Given the description of an element on the screen output the (x, y) to click on. 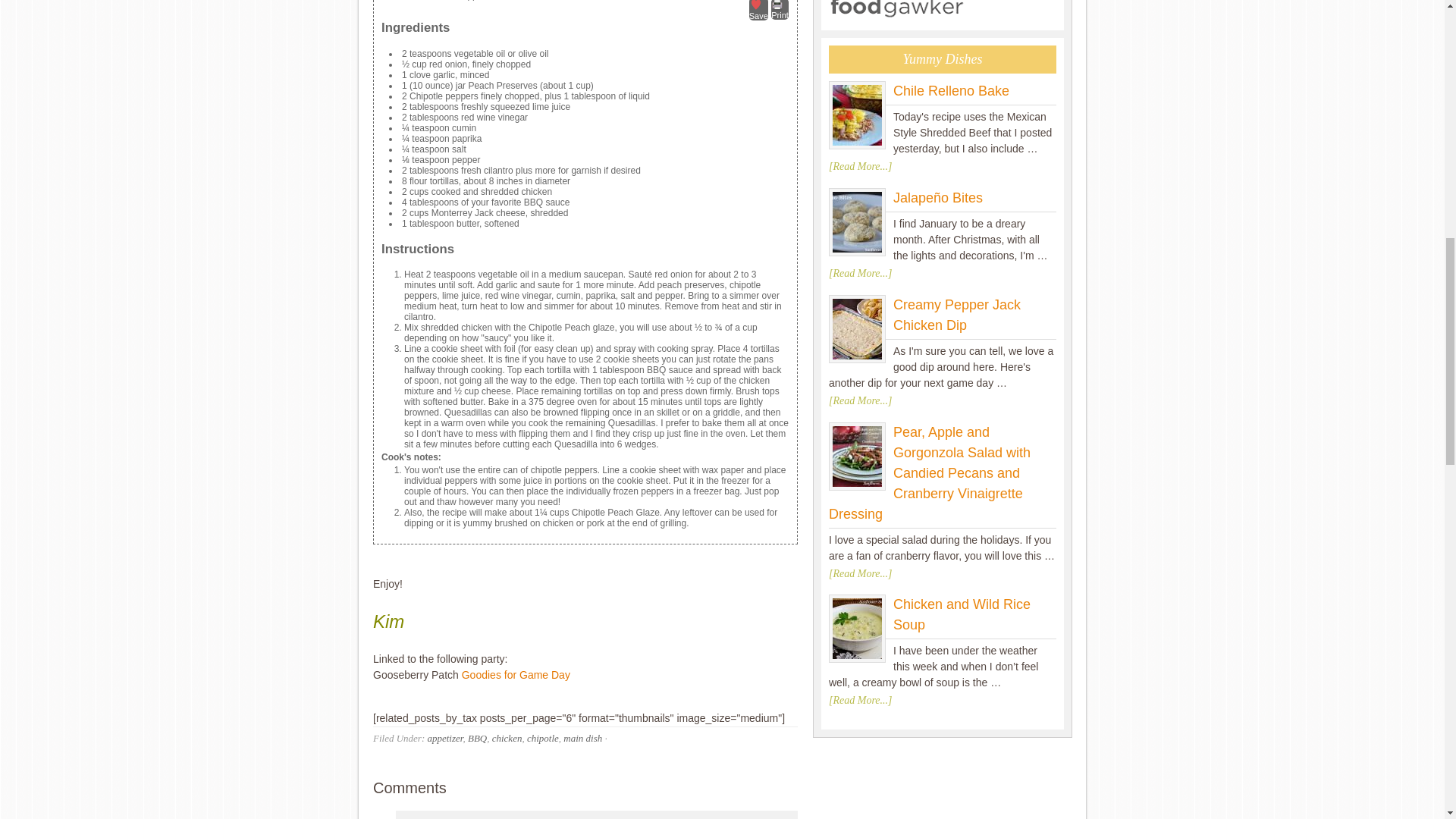
Creamy Pepper Jack Chicken Dip (856, 331)
appetizer (444, 737)
Print (780, 9)
our foodgawker gallery (897, 15)
Goodies for Game Day (515, 674)
Chicken and Wild Rice Soup (856, 631)
Chile Relleno Bake (856, 118)
Creamy Pepper Jack Chicken Dip (956, 314)
Chicken and Wild Rice Soup (961, 614)
Save (758, 10)
Chile Relleno Bake (951, 90)
